Given the description of an element on the screen output the (x, y) to click on. 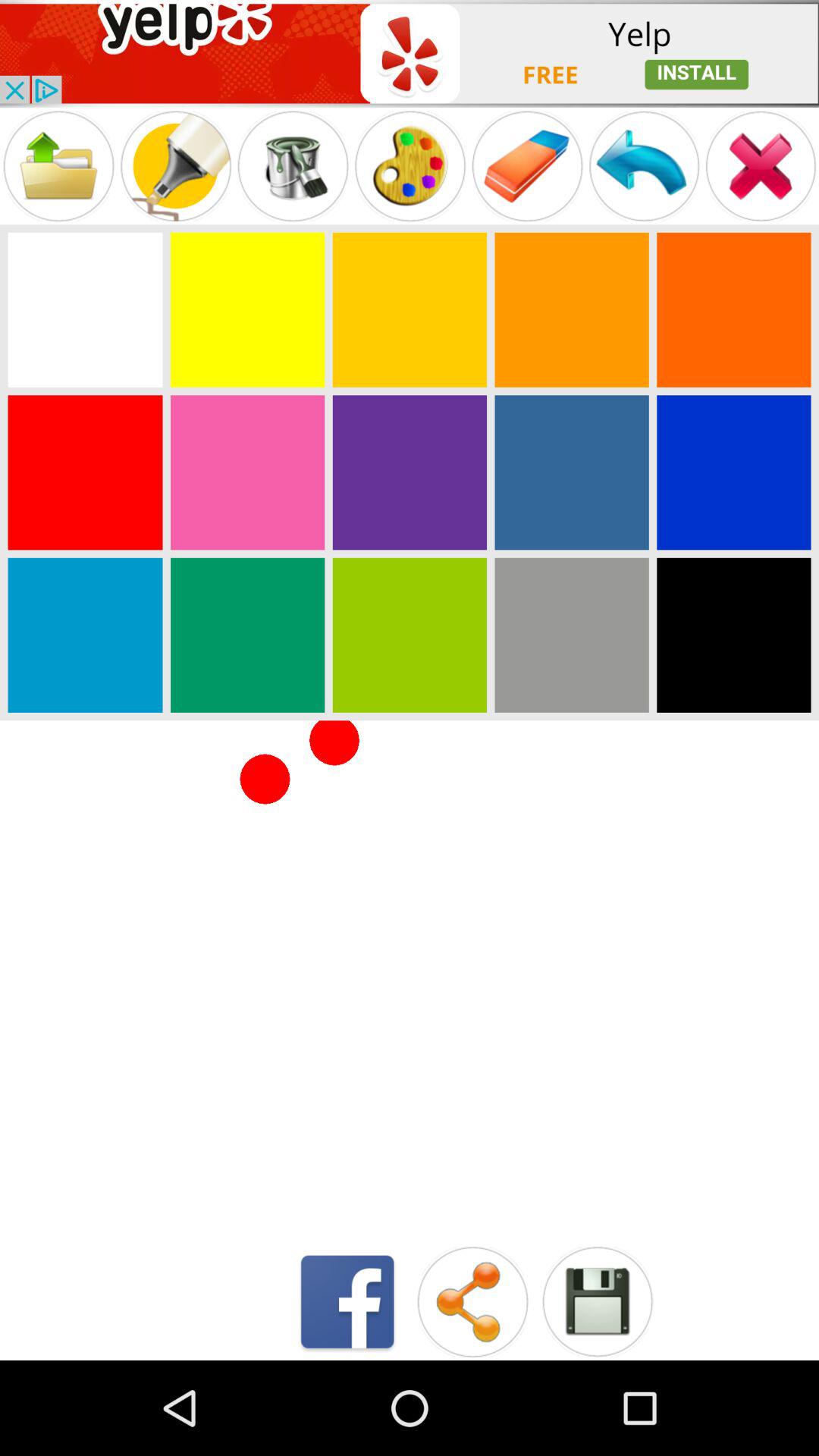
select color (247, 634)
